Given the description of an element on the screen output the (x, y) to click on. 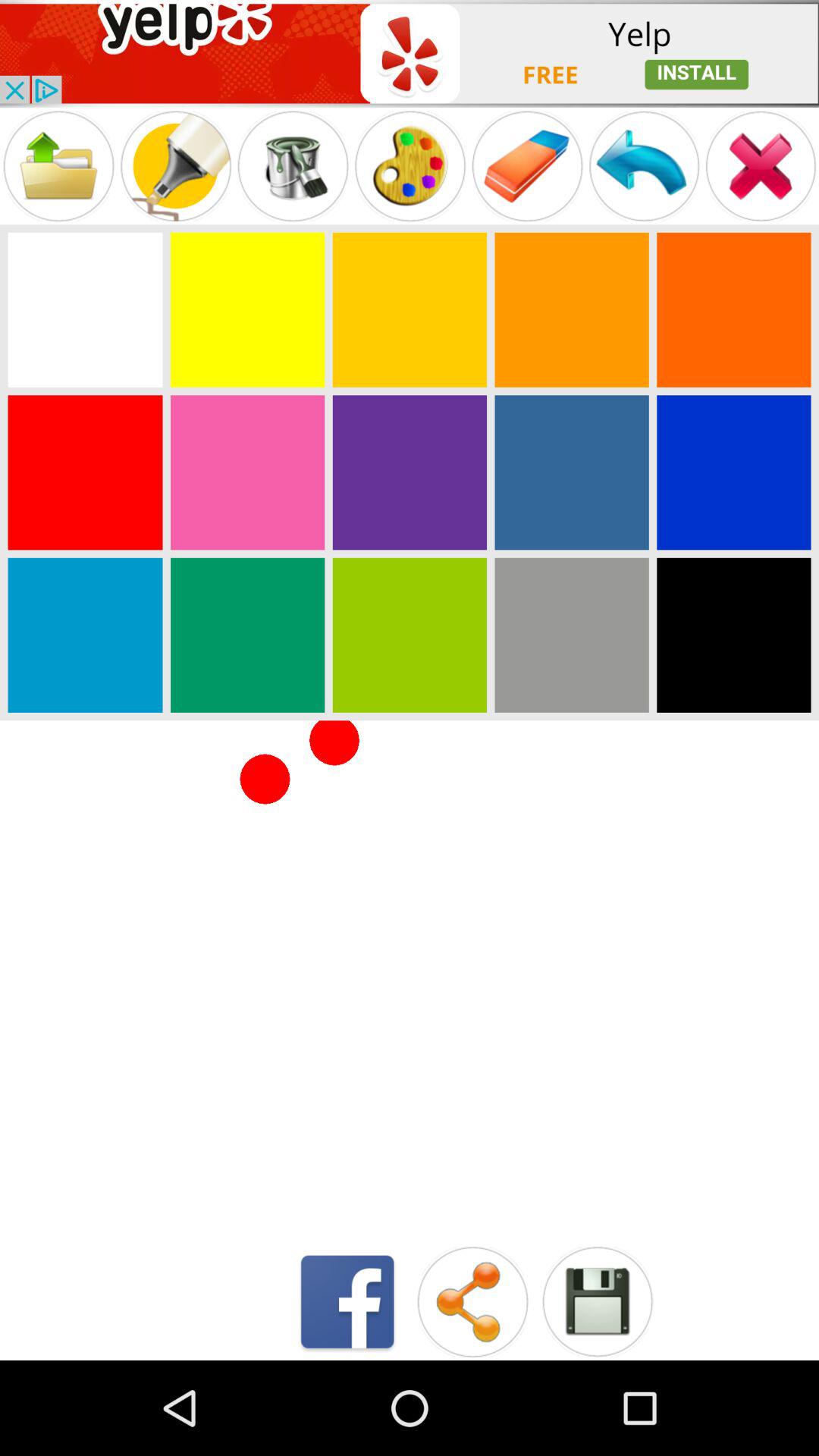
select color (247, 634)
